Given the description of an element on the screen output the (x, y) to click on. 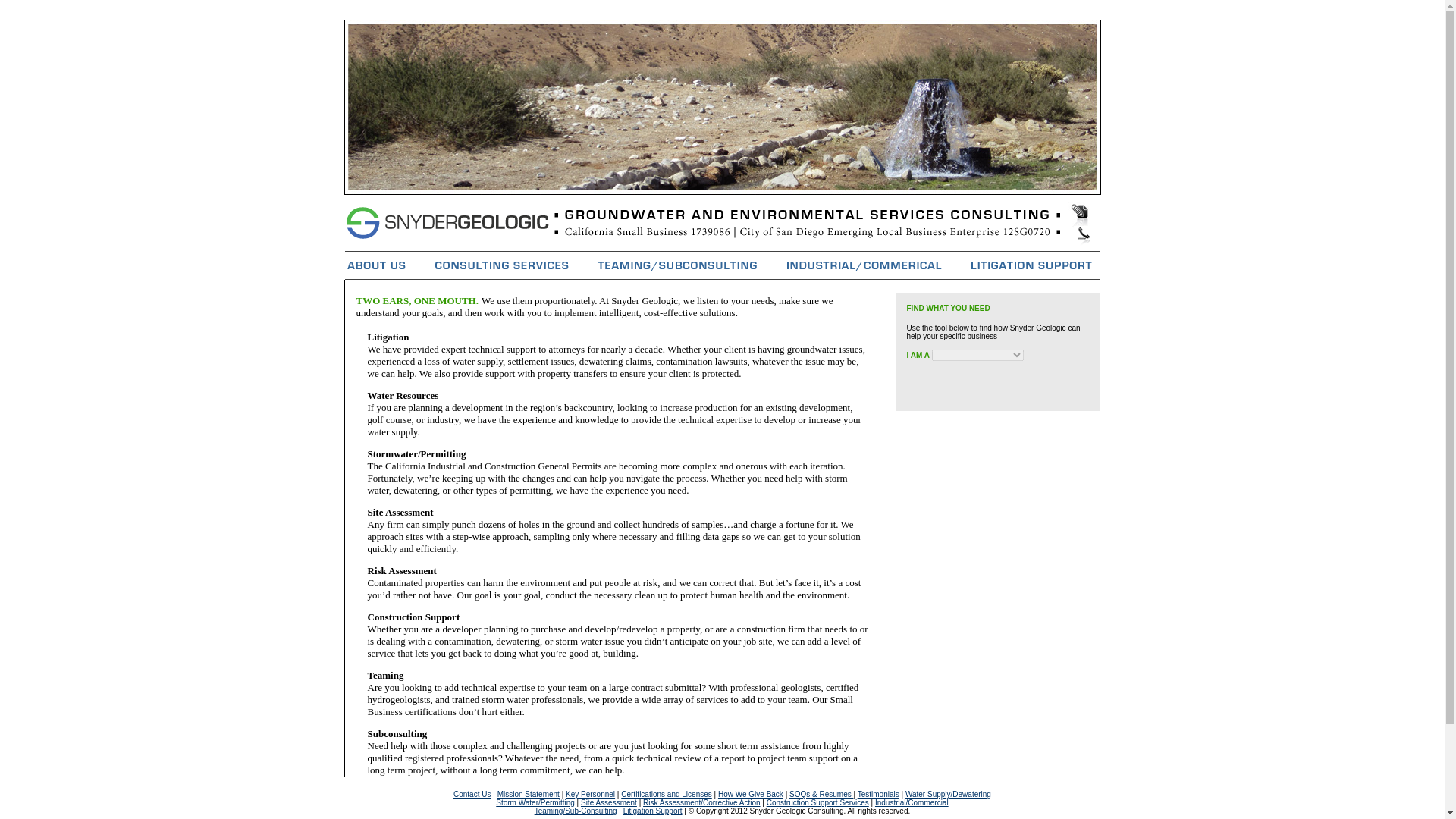
How We Give Back (750, 794)
Contact Us (471, 794)
Certifications and Licenses (666, 794)
Litigation Support (652, 810)
Testimonials (878, 794)
Construction Support Services (818, 802)
Key Personnel (590, 794)
Site Assessment (608, 802)
Mission Statement (528, 794)
